Given the description of an element on the screen output the (x, y) to click on. 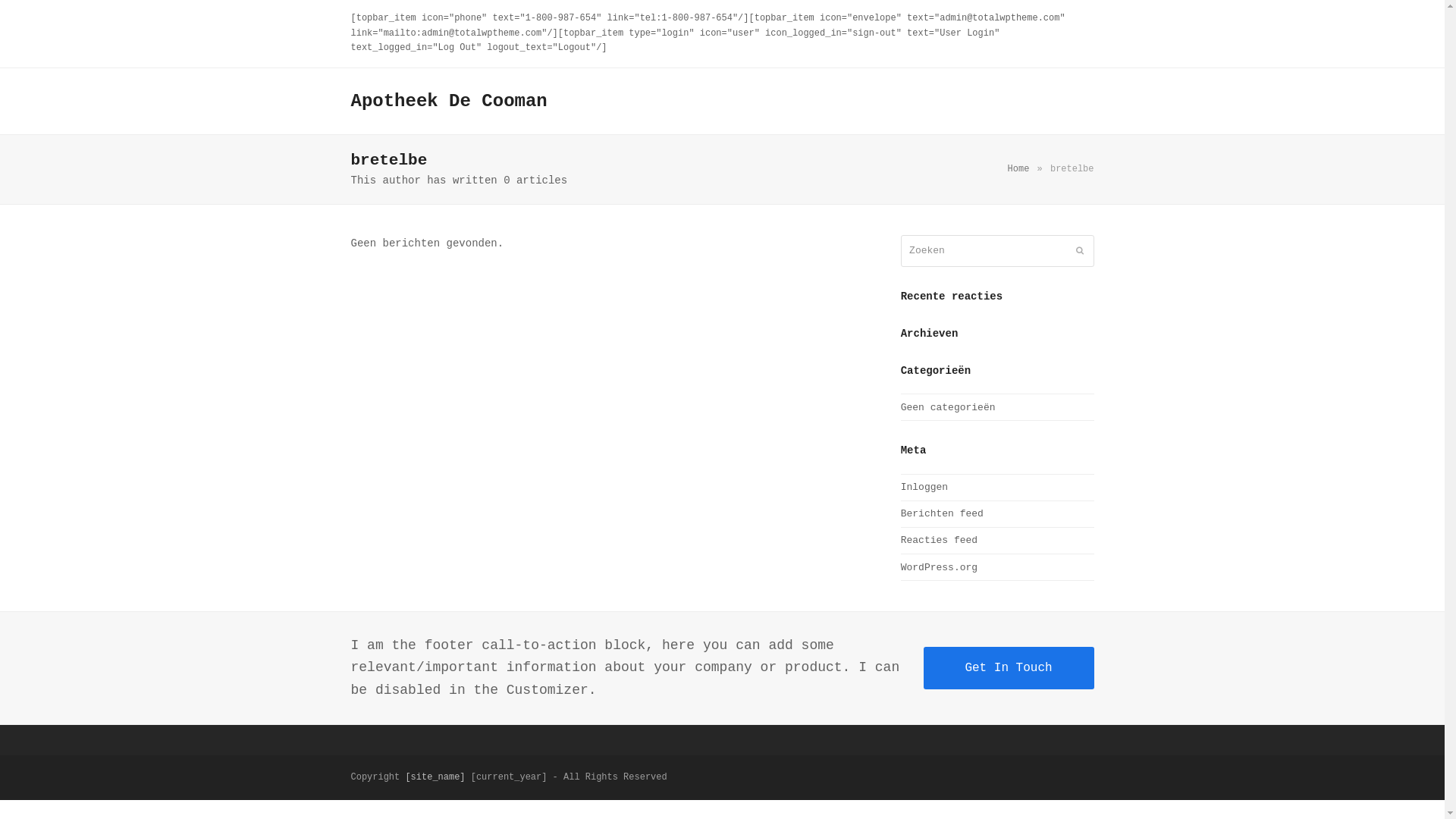
[site_name] Element type: text (434, 776)
Berichten feed Element type: text (941, 513)
Inloggen Element type: text (923, 486)
Reacties feed Element type: text (938, 540)
Apotheek De Cooman Element type: text (448, 101)
Get In Touch Element type: text (1008, 667)
Verzenden Element type: text (1078, 250)
WordPress.org Element type: text (938, 567)
Home Element type: text (1018, 168)
